Given the description of an element on the screen output the (x, y) to click on. 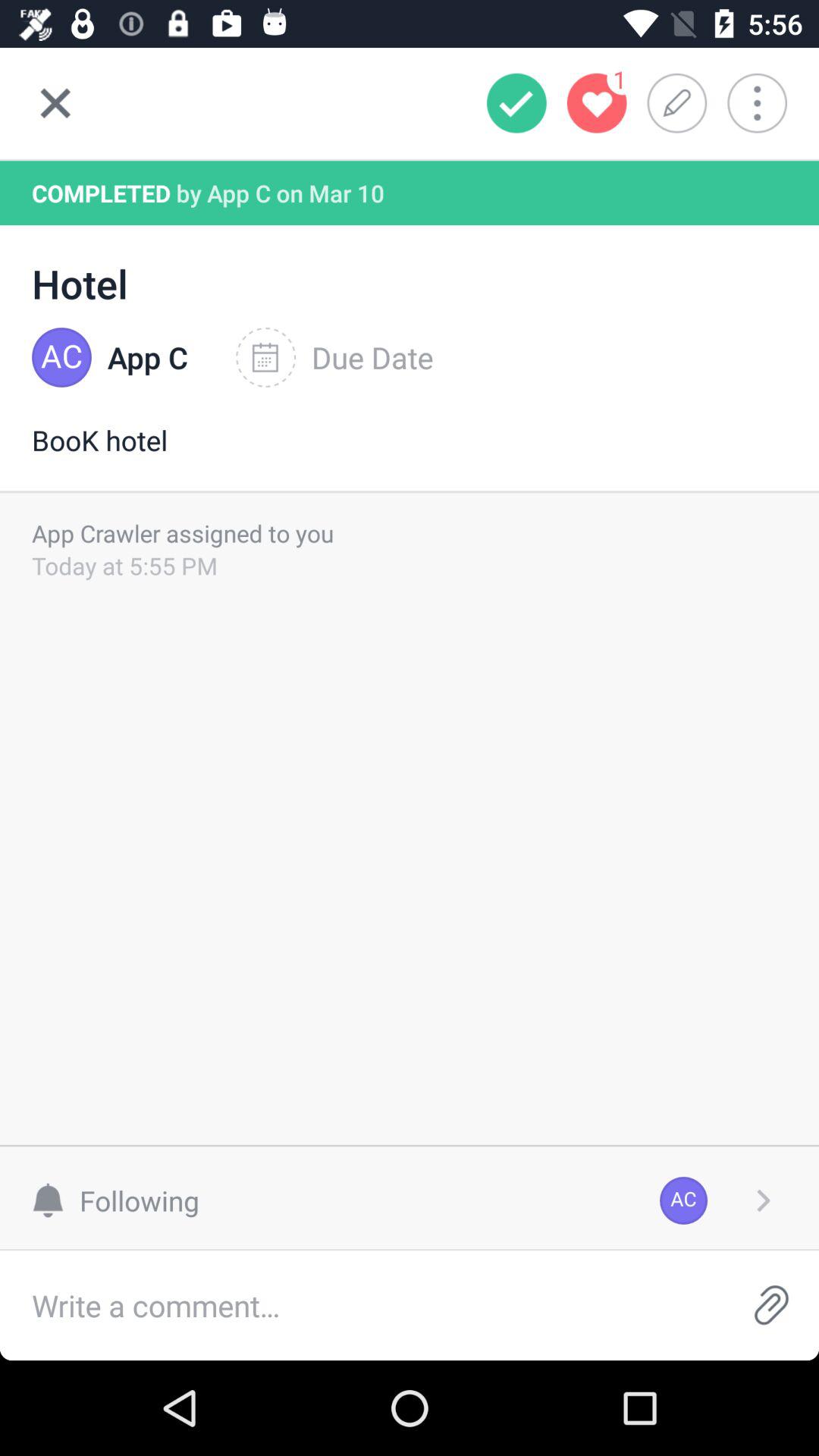
enter comment (361, 1305)
